Given the description of an element on the screen output the (x, y) to click on. 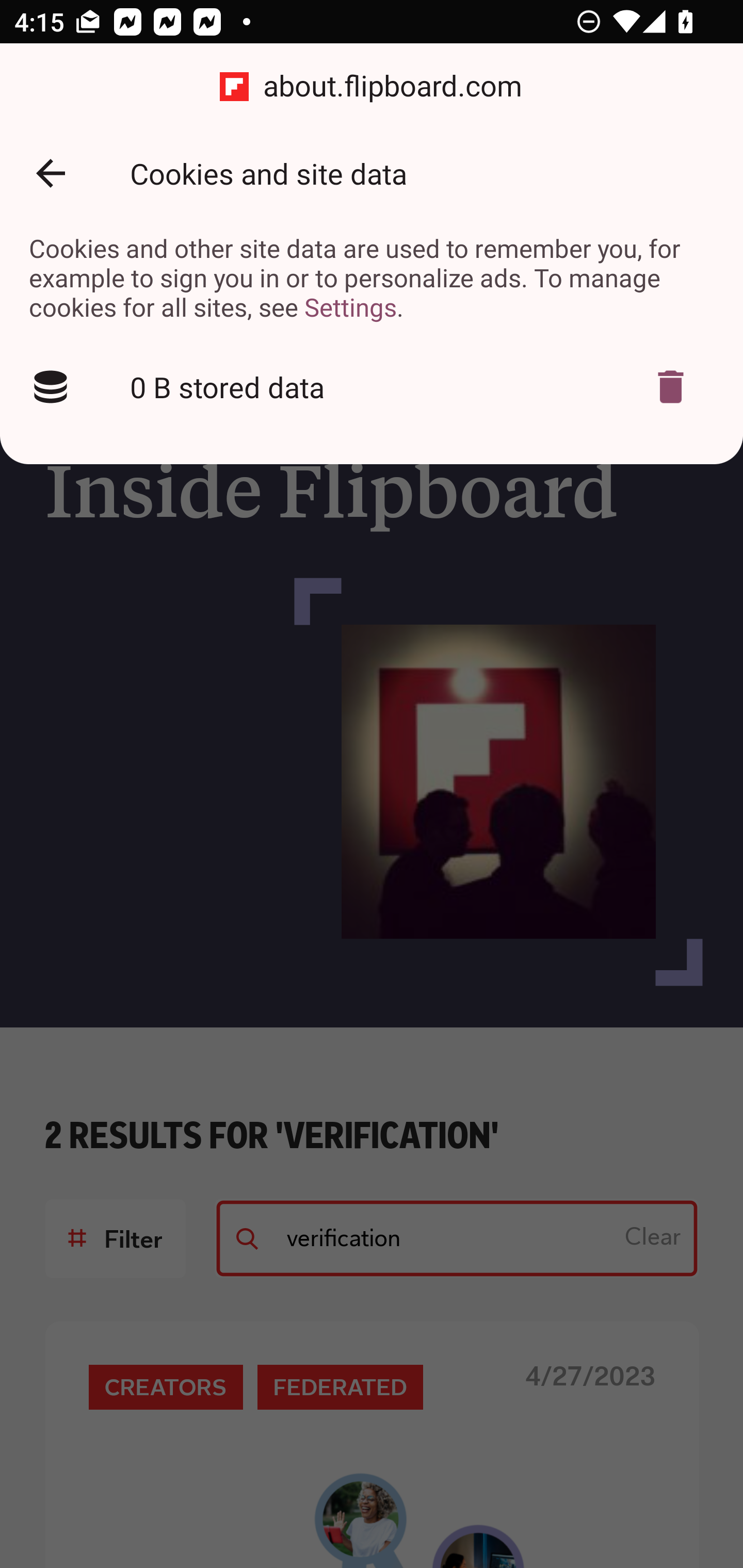
about.flipboard.com (371, 86)
Back (50, 173)
0 B stored data Delete cookies? (371, 386)
